Given the description of an element on the screen output the (x, y) to click on. 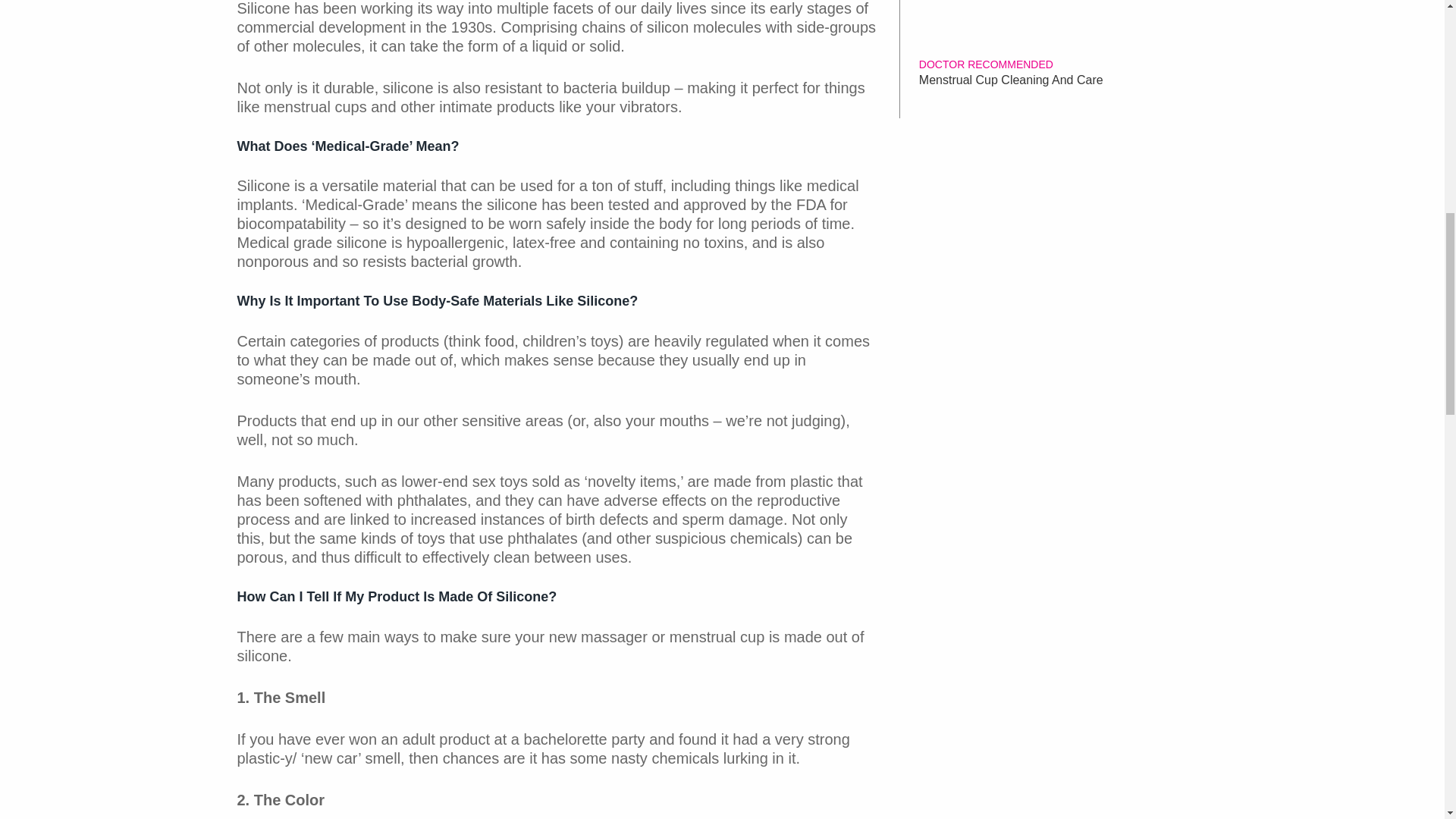
DOCTOR RECOMMENDED (985, 64)
Menstrual Cup Cleaning And Care (1059, 79)
Menstrual Cup Cleaning and Care (1059, 79)
